Given the description of an element on the screen output the (x, y) to click on. 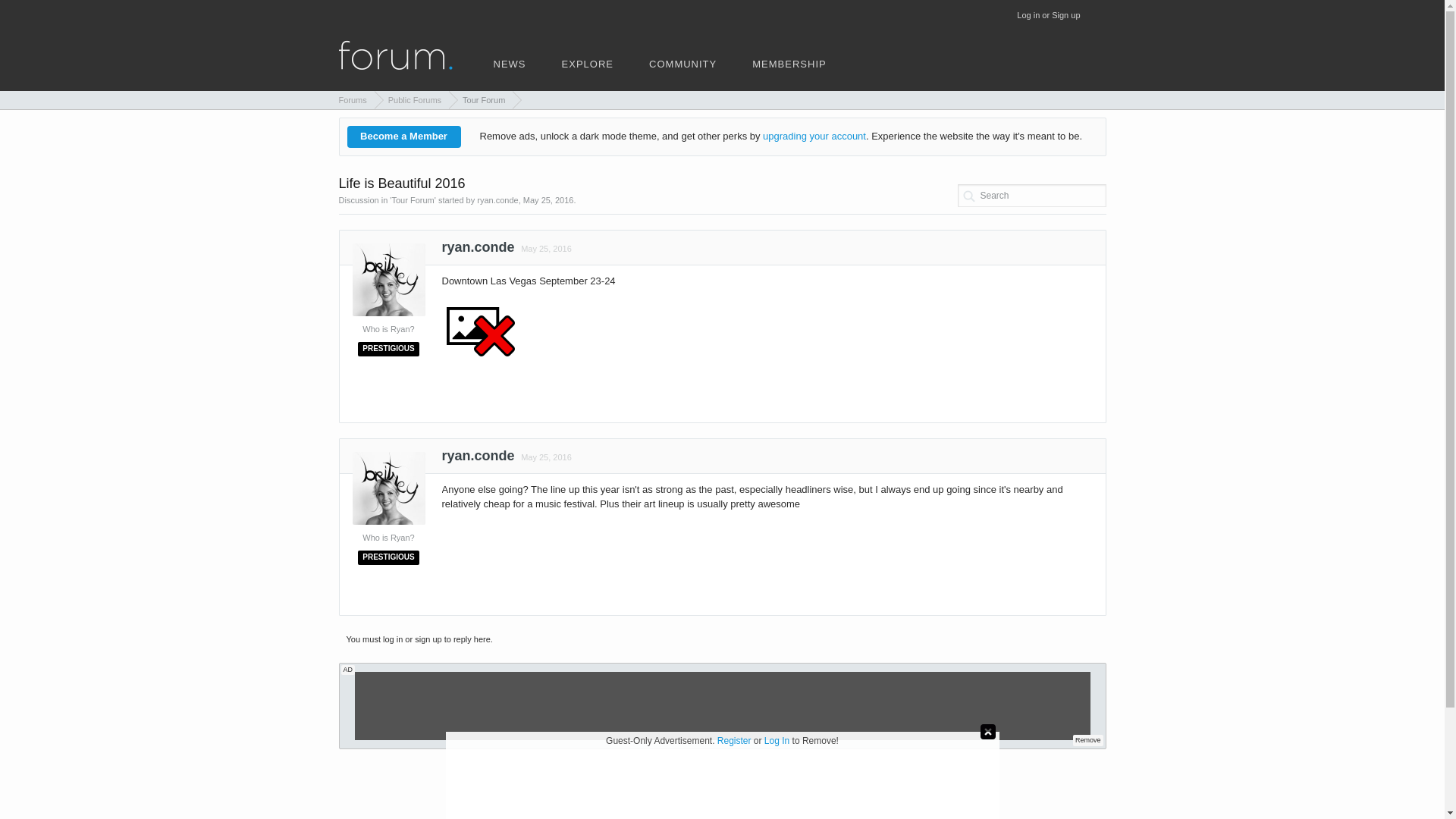
Enter your search and hit enter (1030, 195)
upgrading your account (814, 135)
Log in or Sign up (1048, 14)
Permalink (544, 248)
Tour Forum (480, 99)
You must log in or sign up to reply here. (419, 638)
3rd party ad content (722, 705)
Public Forums (411, 99)
PRESTIGIOUS (388, 347)
community (682, 71)
May 25, 2016 (544, 456)
Visit the chorus.fm homepage. (508, 71)
Remove (1087, 740)
3rd party ad content (721, 780)
May 25, 2016 at 5:08 PM (546, 248)
